Given the description of an element on the screen output the (x, y) to click on. 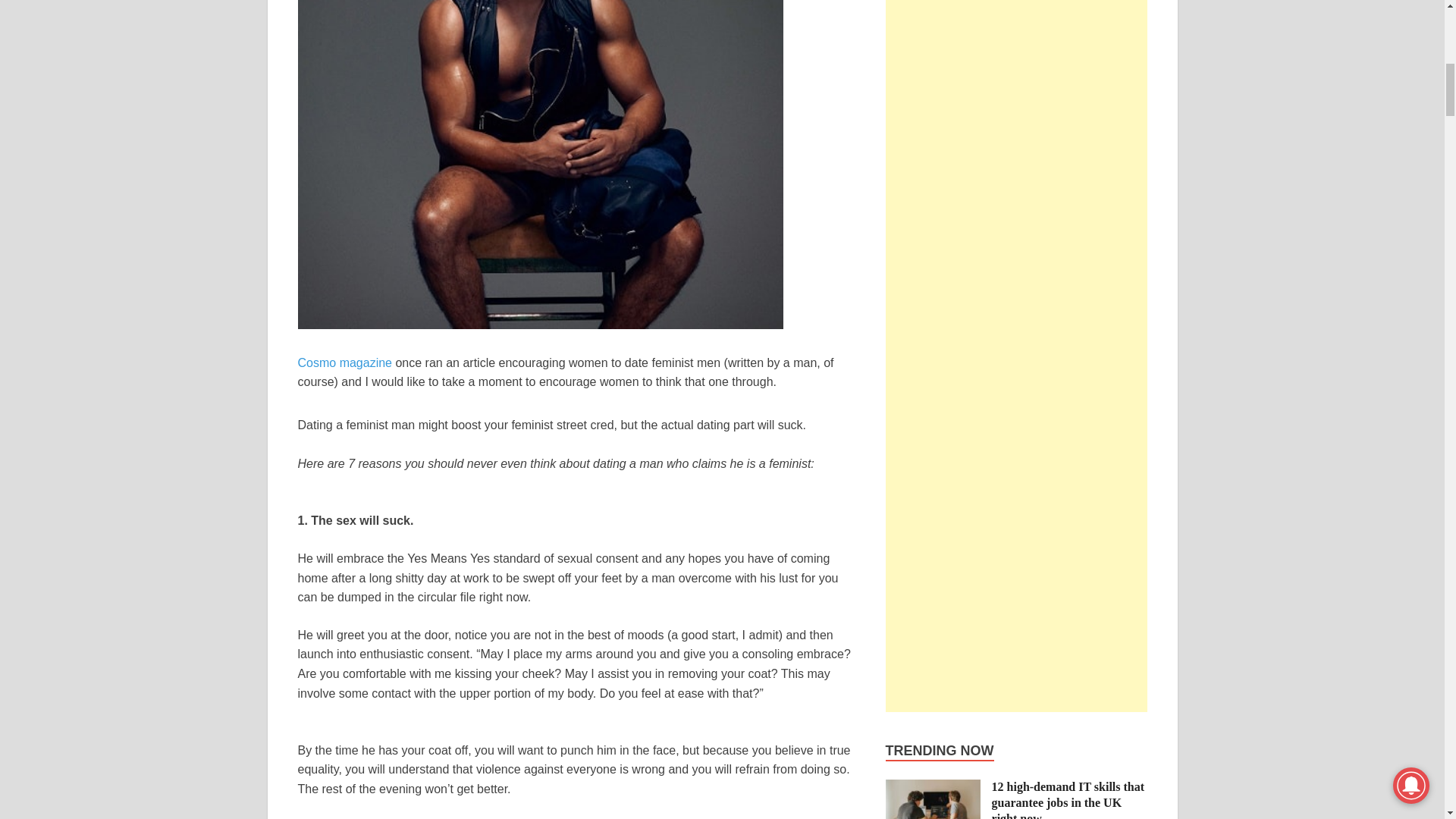
Cosmo magazine (344, 362)
